Given the description of an element on the screen output the (x, y) to click on. 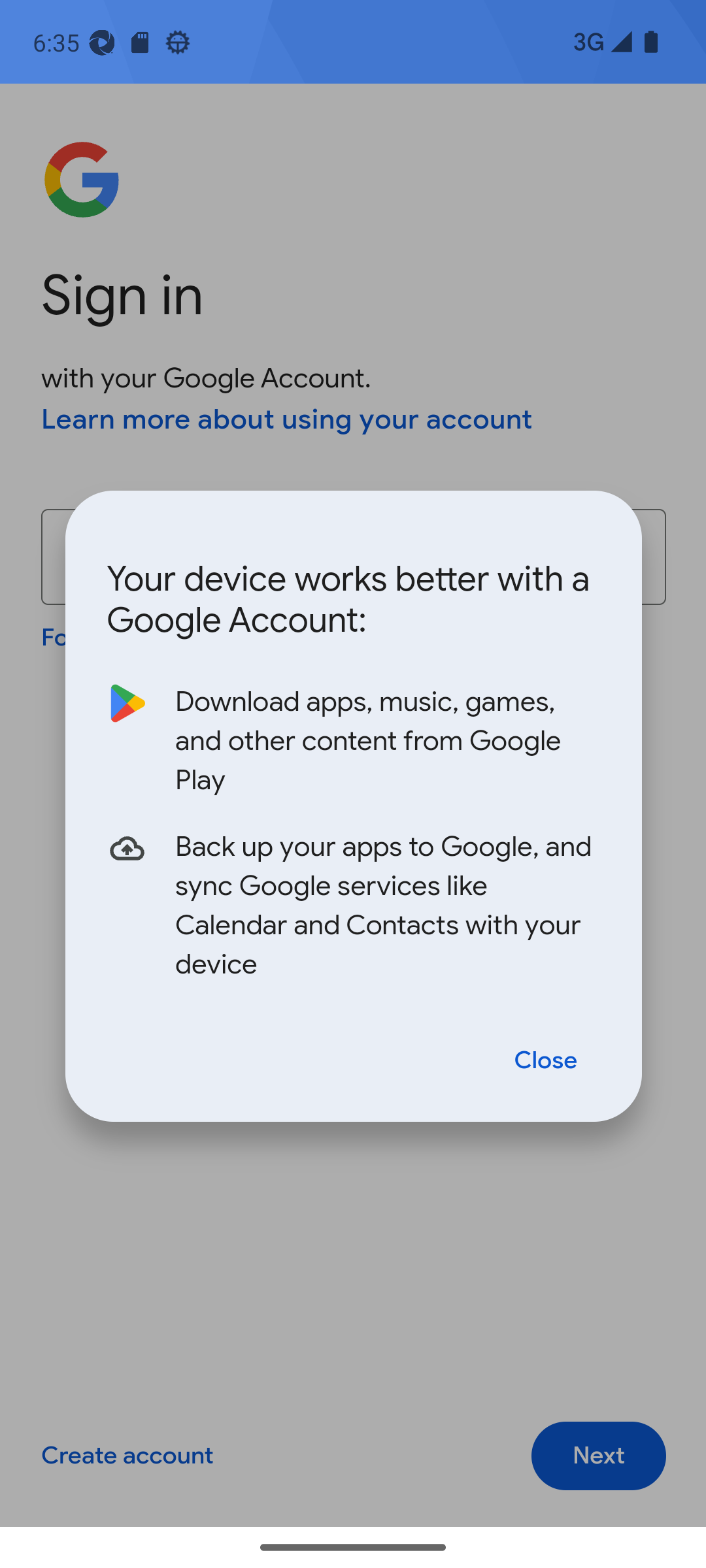
Close (545, 1058)
